Given the description of an element on the screen output the (x, y) to click on. 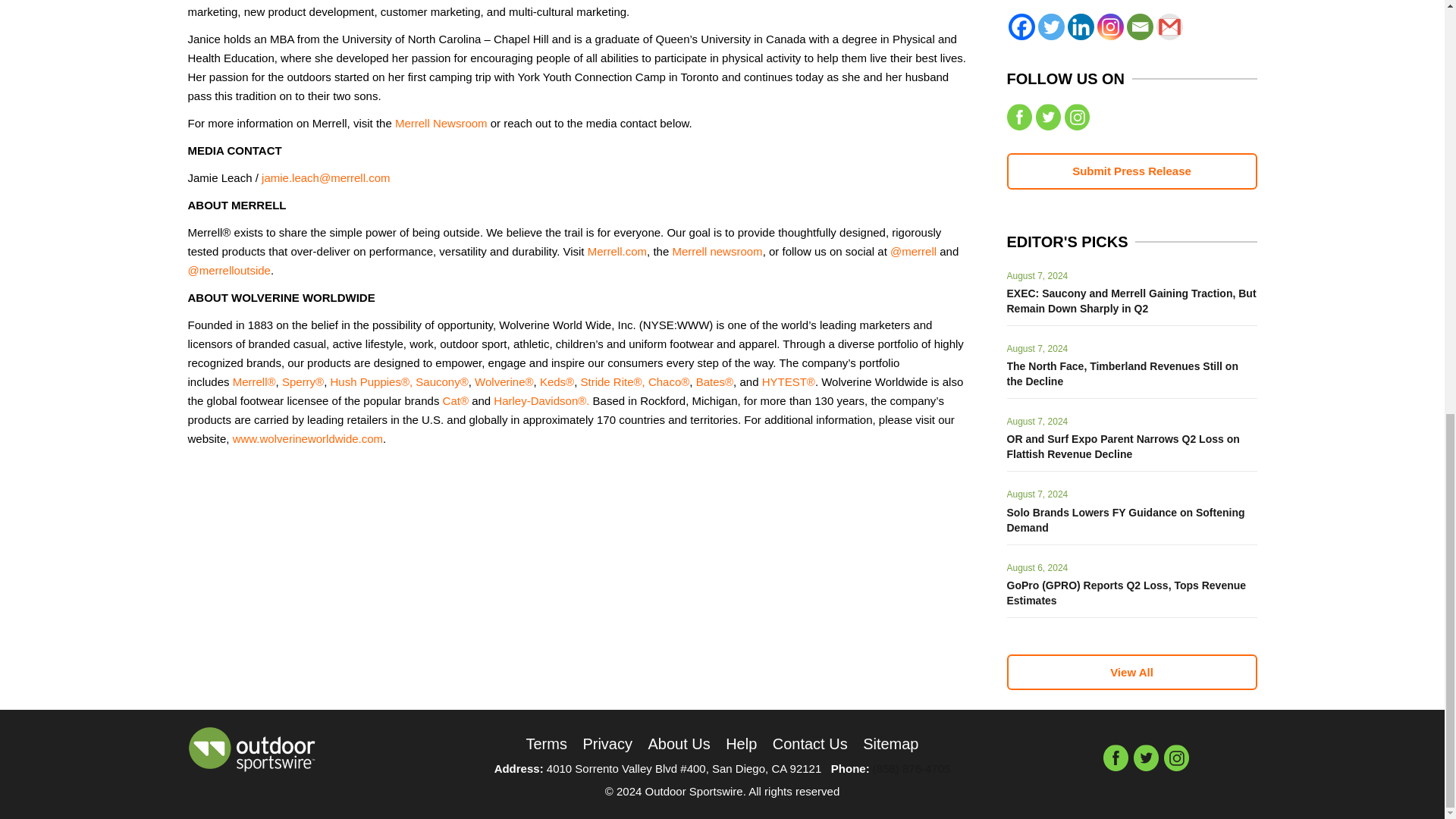
Twitter (1050, 26)
Email (1139, 26)
Facebook (1022, 26)
Linkedin (1080, 26)
Google Gmail (1169, 26)
Instagram (1109, 26)
